Given the description of an element on the screen output the (x, y) to click on. 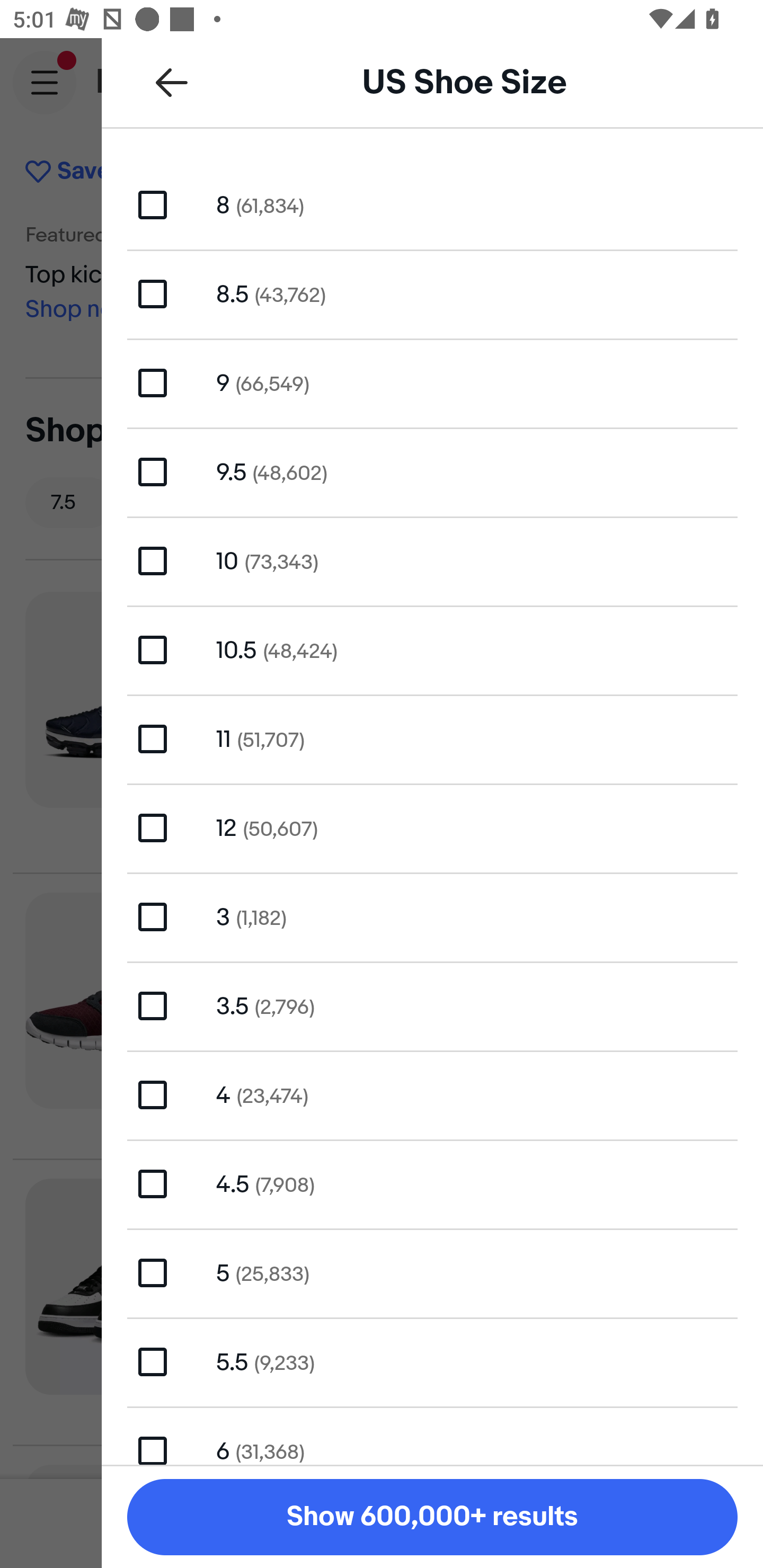
Back to all refinements (171, 81)
8 (61,834) (432, 204)
8.5 (43,762) (432, 293)
9 (66,549) (432, 383)
9.5 (48,602) (432, 471)
10 (73,343) (432, 560)
10.5 (48,424) (432, 649)
11 (51,707) (432, 739)
12 (50,607) (432, 827)
3 (1,182) (432, 916)
3.5 (2,796) (432, 1005)
4 (23,474) (432, 1094)
4.5 (7,908) (432, 1183)
5 (25,833) (432, 1272)
5.5 (9,233) (432, 1361)
6 (31,368) (432, 1435)
Show 600,000+ results (432, 1516)
